Given the description of an element on the screen output the (x, y) to click on. 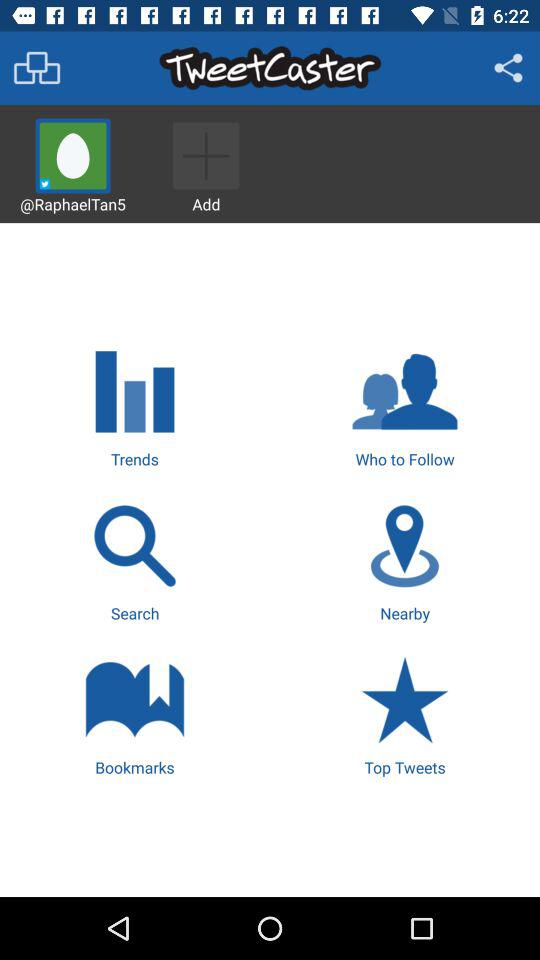
turn on the item next to trends (404, 405)
